Given the description of an element on the screen output the (x, y) to click on. 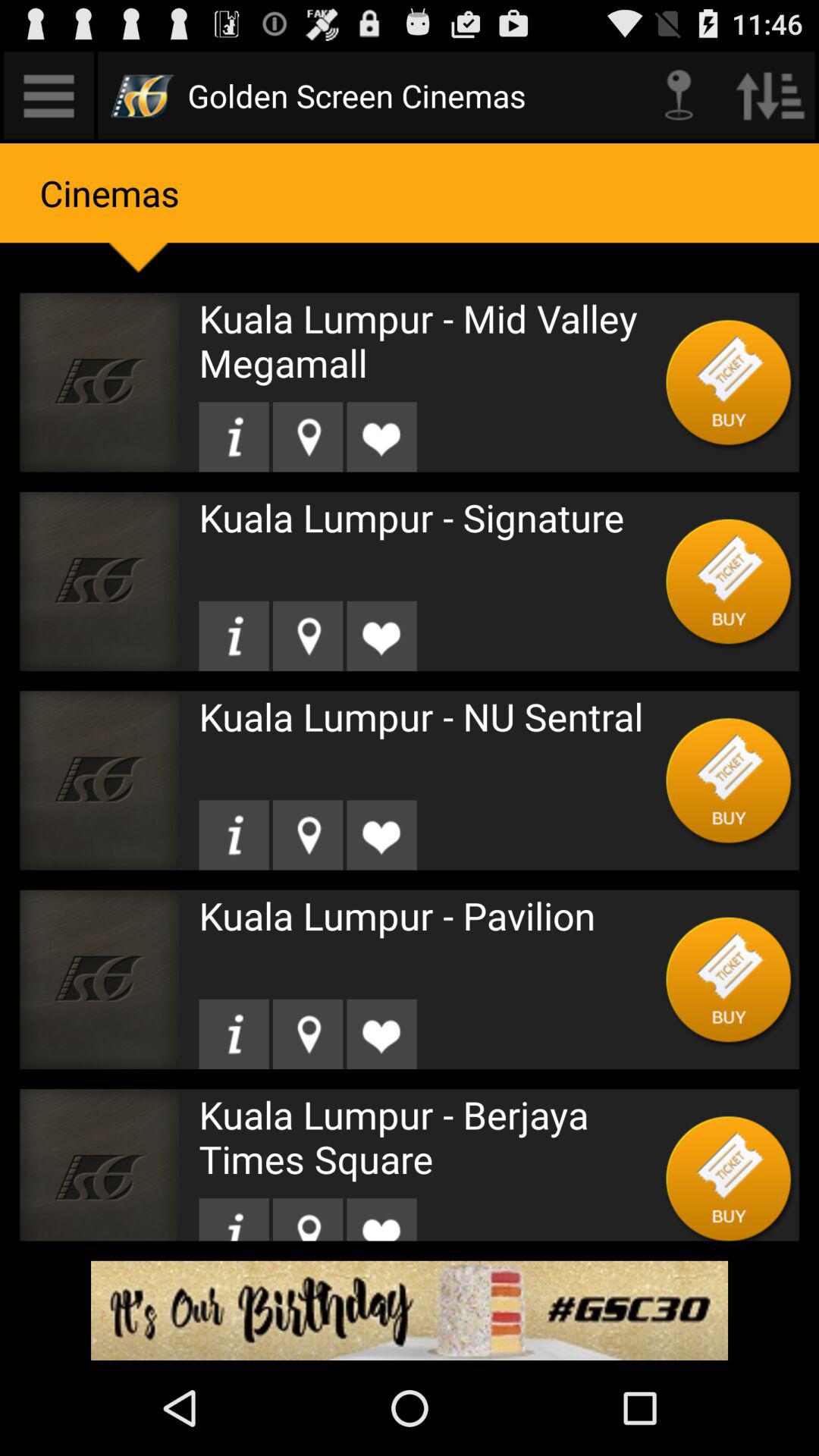
go to like button (381, 437)
